Given the description of an element on the screen output the (x, y) to click on. 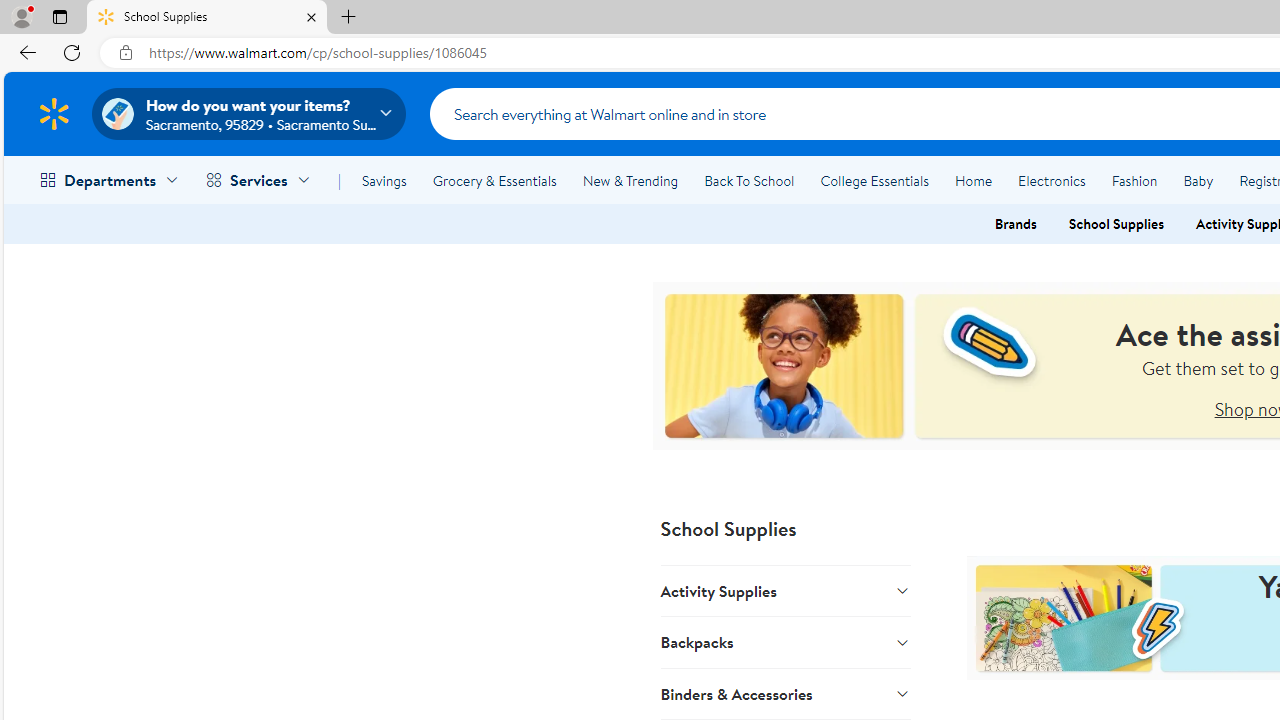
Baby (1197, 180)
College Essentials (874, 180)
Electronics (1051, 180)
Binders & Accessories (785, 693)
Fashion (1134, 180)
